Given the description of an element on the screen output the (x, y) to click on. 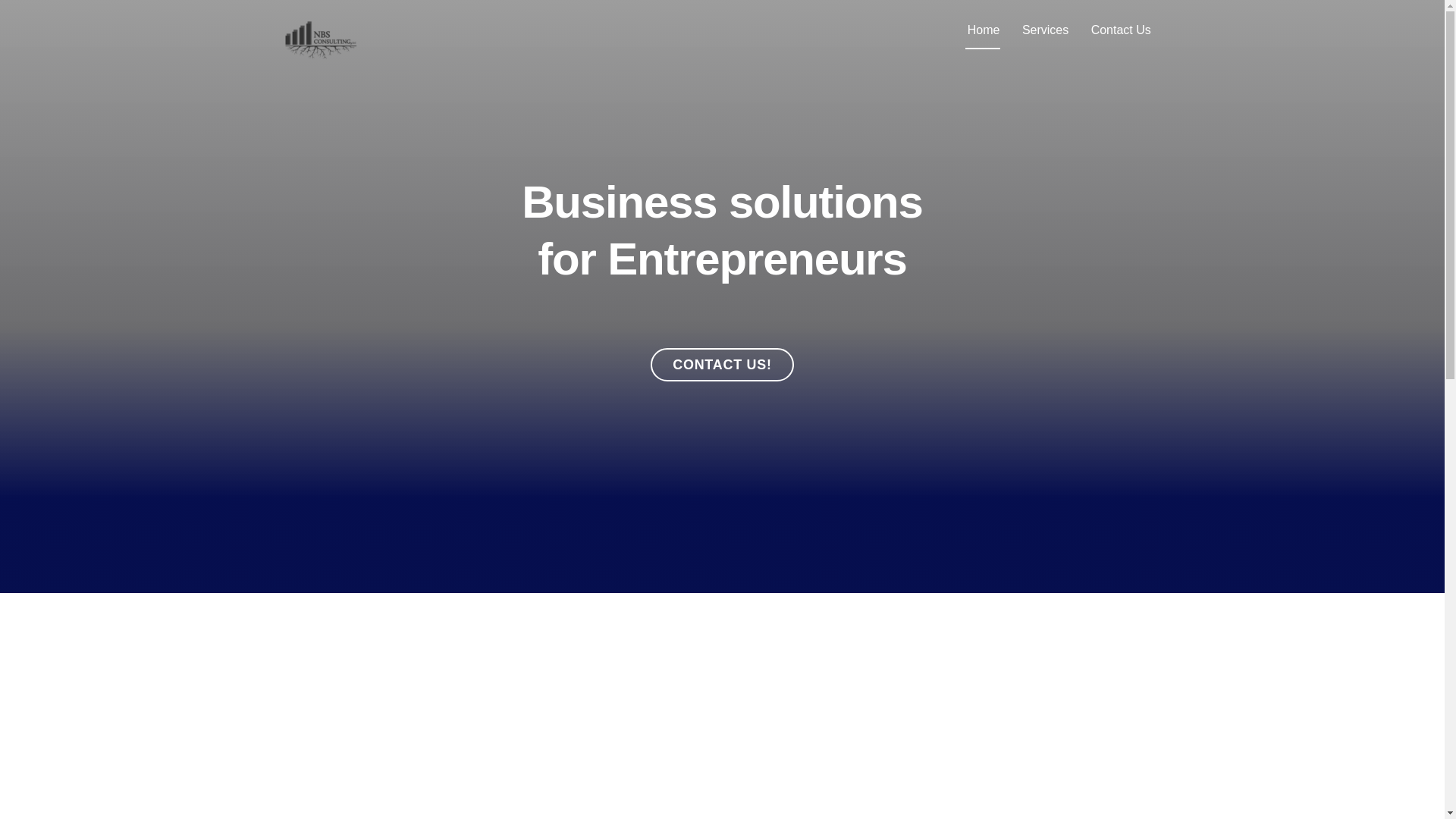
NBS Consulting (721, 30)
Services (320, 53)
Copy of NBS Consulting, LLC (1045, 30)
Contact Us (320, 37)
CONTACT US! (1121, 30)
Home (722, 365)
